Given the description of an element on the screen output the (x, y) to click on. 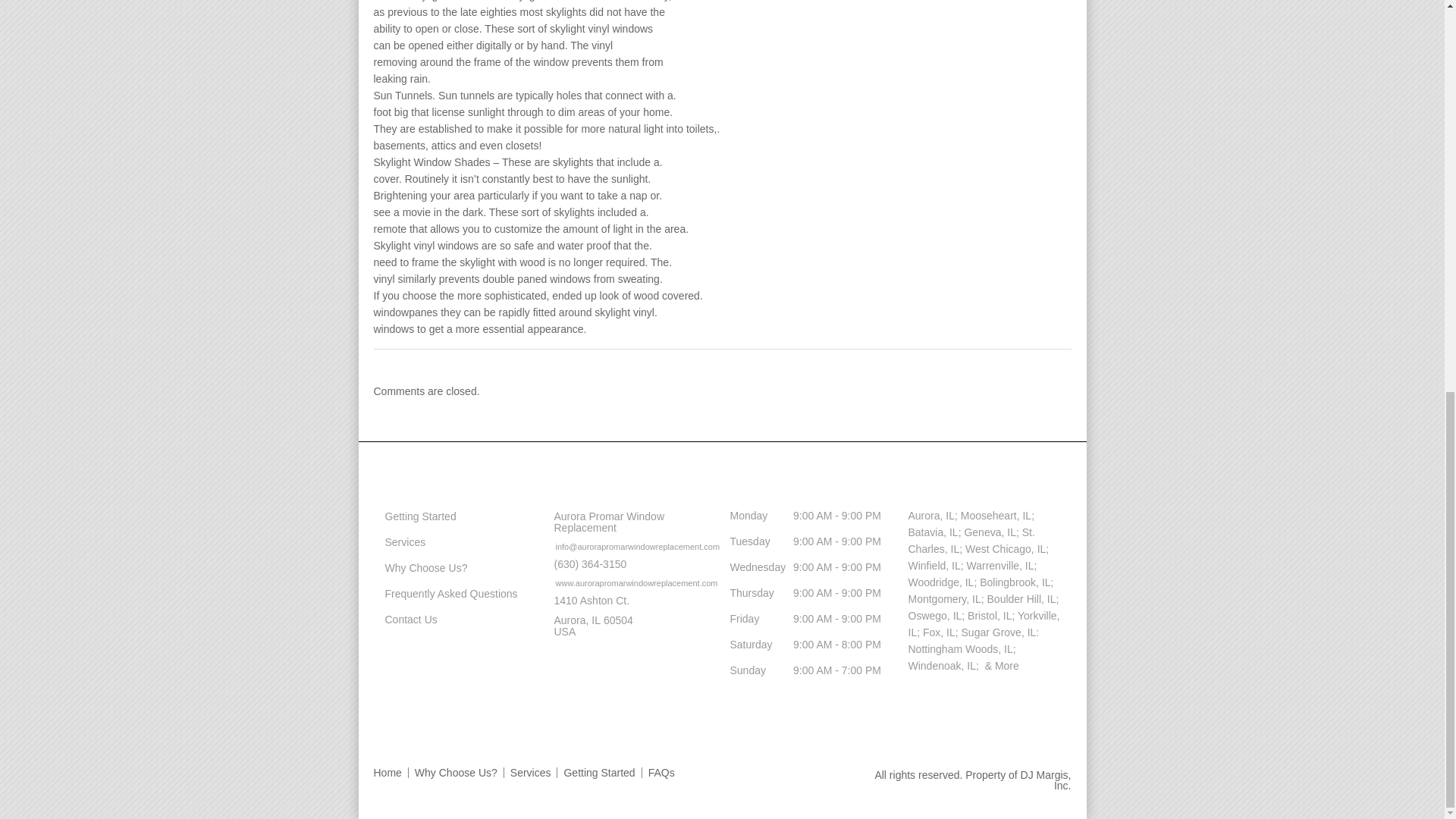
Why Choose Us? (456, 772)
Home (389, 772)
Getting Started (599, 772)
Getting Started (413, 516)
www.aurorapromarwindowreplacement.com (628, 583)
Services (530, 772)
Services (398, 541)
FAQs (661, 772)
Frequently Asked Questions (444, 593)
Contact Us (404, 619)
